Given the description of an element on the screen output the (x, y) to click on. 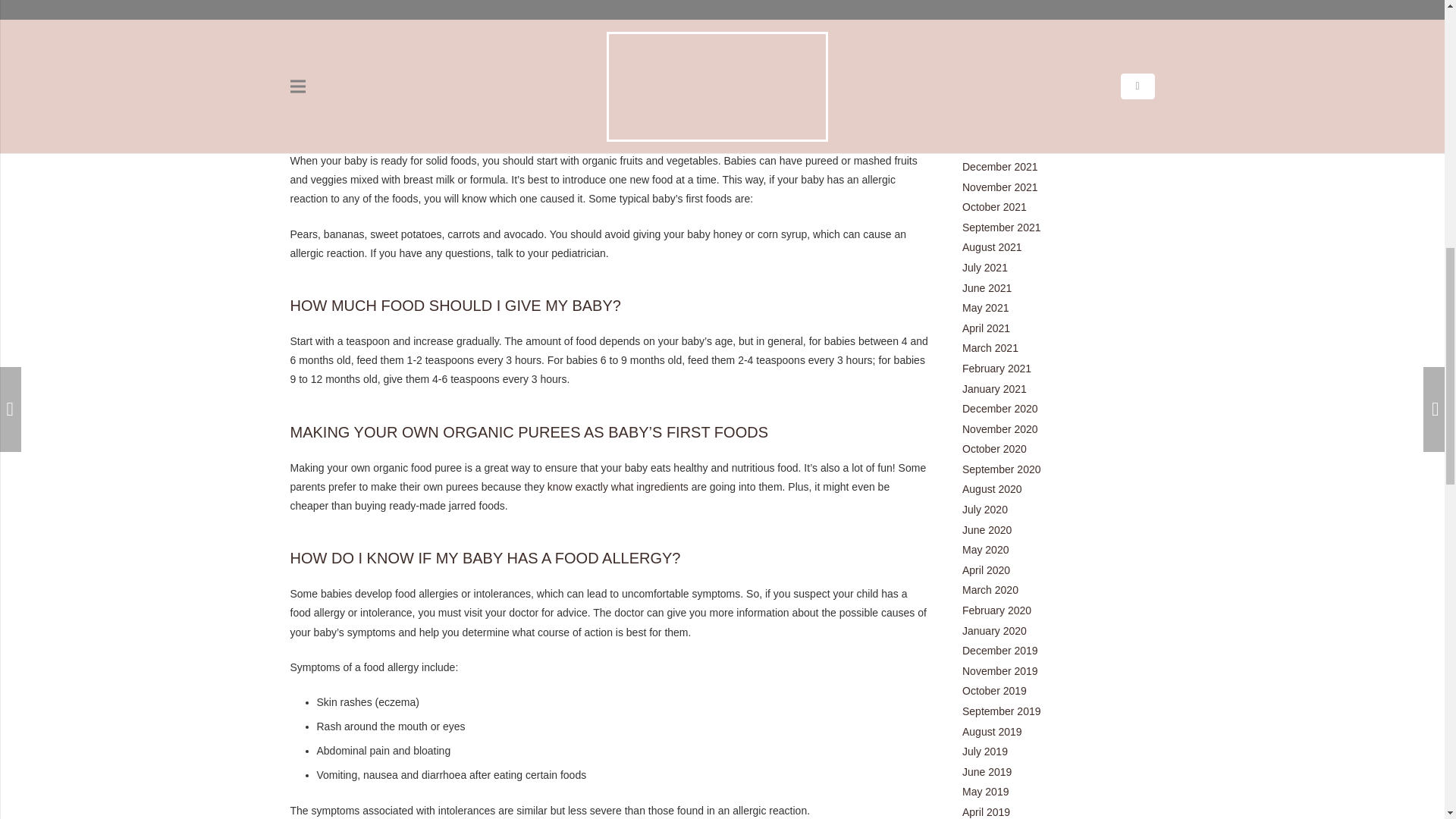
July 2022 (984, 25)
August 2022 (992, 5)
know exactly what ingredients (617, 486)
